Given the description of an element on the screen output the (x, y) to click on. 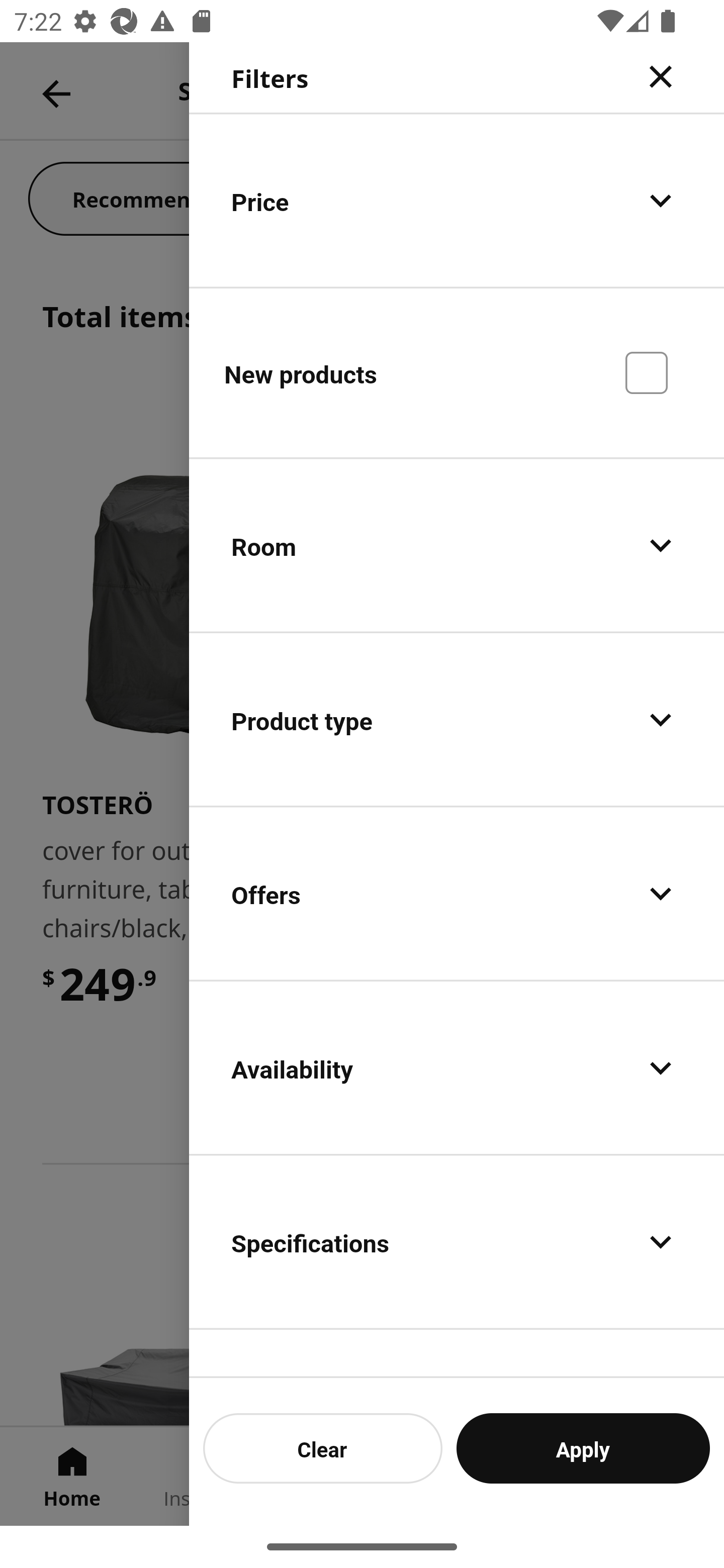
Price (456, 200)
New products (456, 371)
Room (456, 545)
Product type (456, 719)
Offers (456, 893)
Availability (456, 1067)
Specifications (456, 1241)
Clear (322, 1447)
Apply (583, 1447)
